Given the description of an element on the screen output the (x, y) to click on. 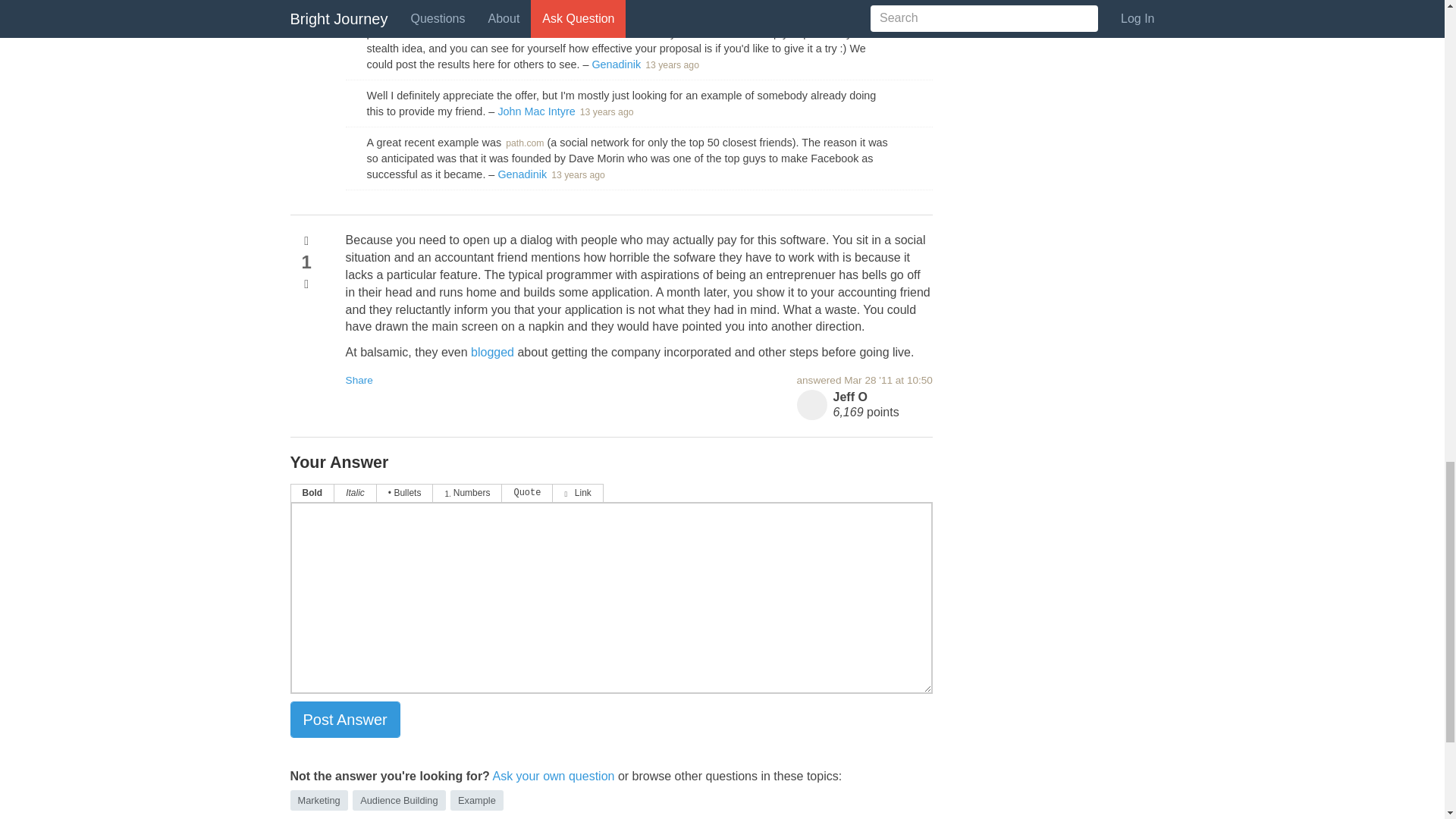
Example (476, 800)
Audience Building (398, 800)
Genadinik (615, 64)
Marketing (318, 800)
Post Answer (343, 719)
Genadinik (522, 174)
You need to be logged in to vote (306, 241)
You need to be logged in to vote (306, 284)
Ask your own question (553, 775)
John Mac Intyre (536, 111)
Share (359, 379)
blogged (491, 351)
Post Answer (343, 719)
